Given the description of an element on the screen output the (x, y) to click on. 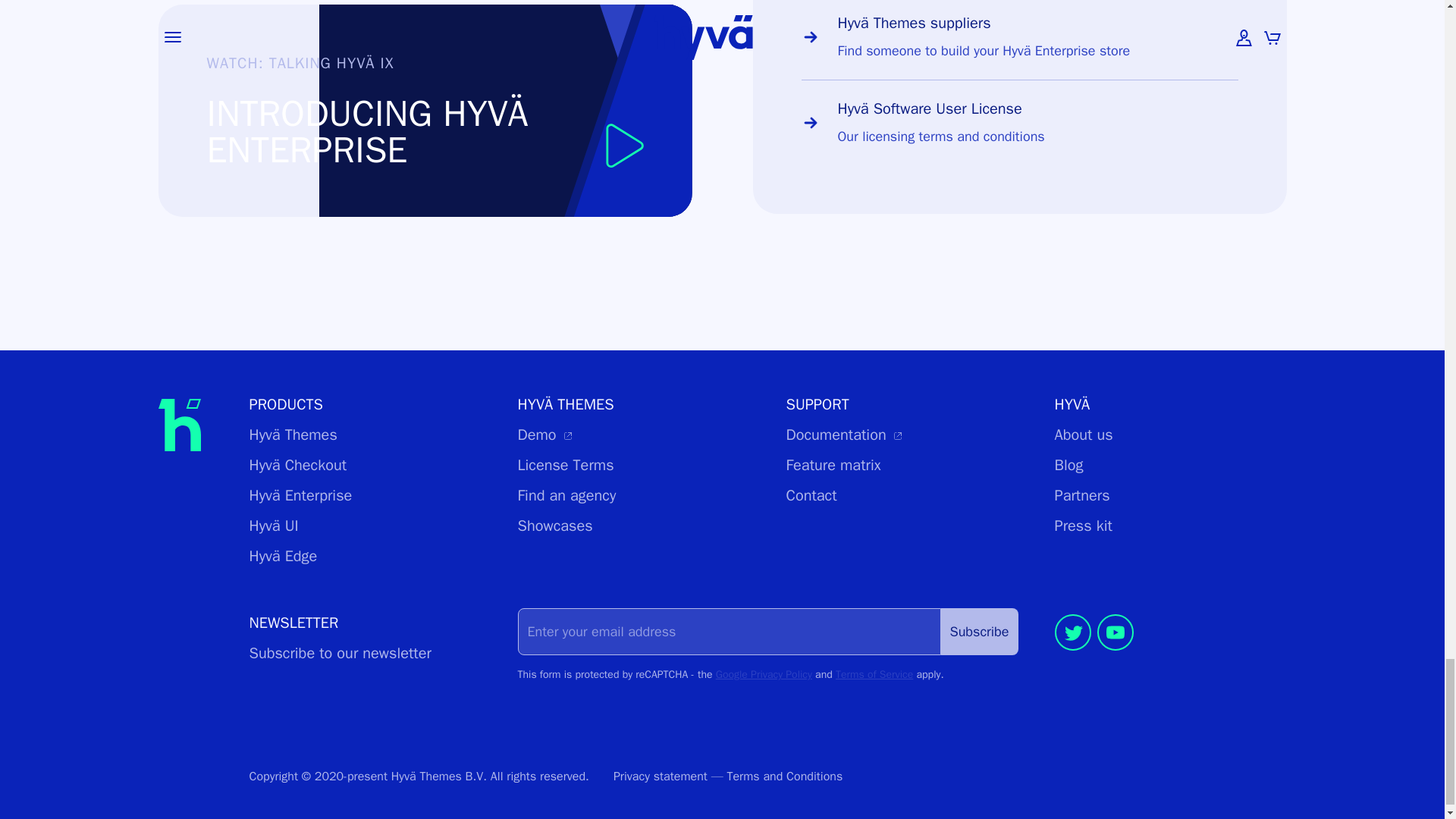
YouTube (1114, 654)
Twitter (1072, 654)
